Given the description of an element on the screen output the (x, y) to click on. 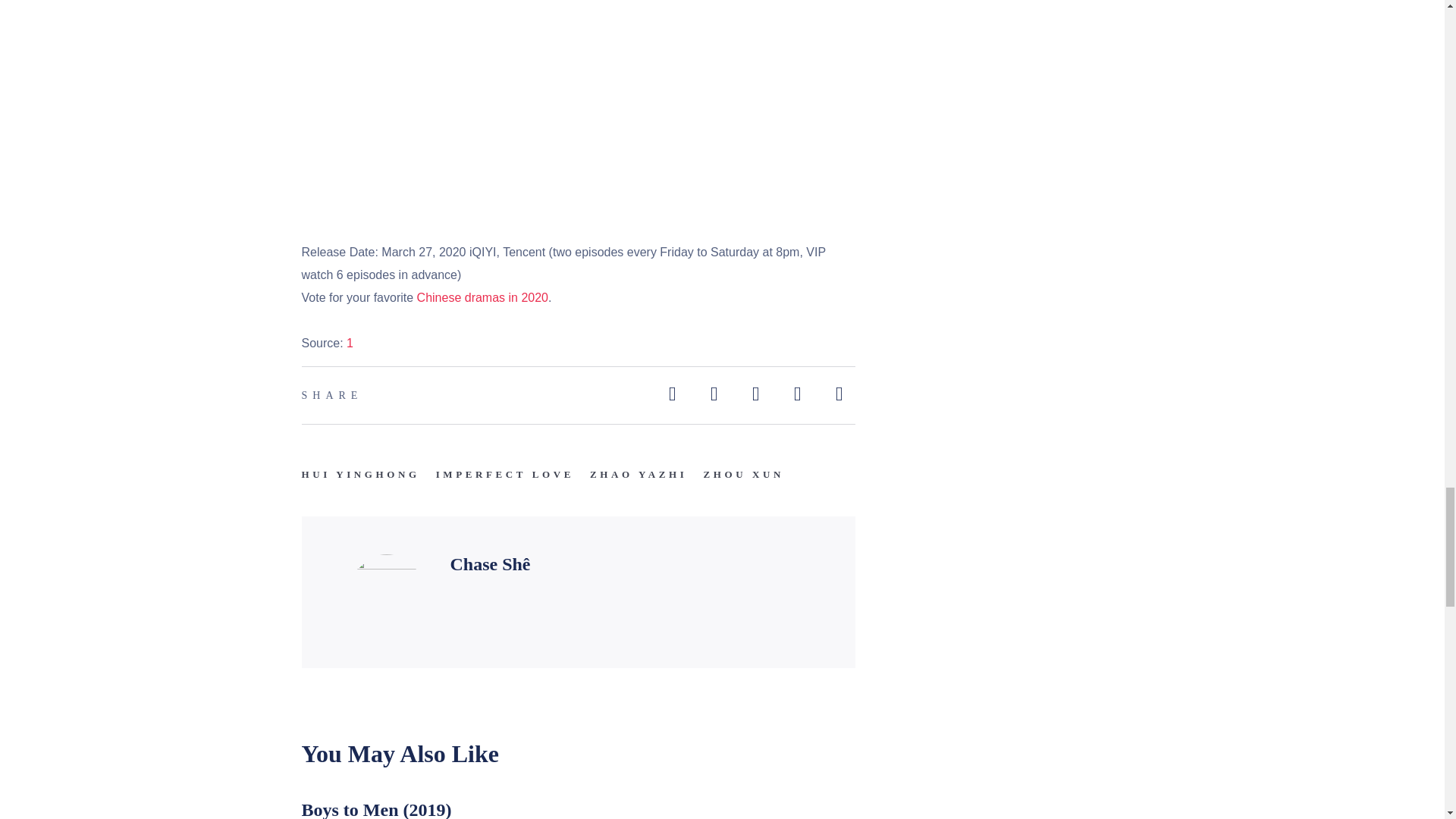
Chinese dramas in 2020 (482, 297)
ZHOU XUN (743, 474)
IMPERFECT LOVE (504, 474)
1 (349, 342)
ZHAO YAZHI (638, 474)
HUI YINGHONG (360, 474)
